Given the description of an element on the screen output the (x, y) to click on. 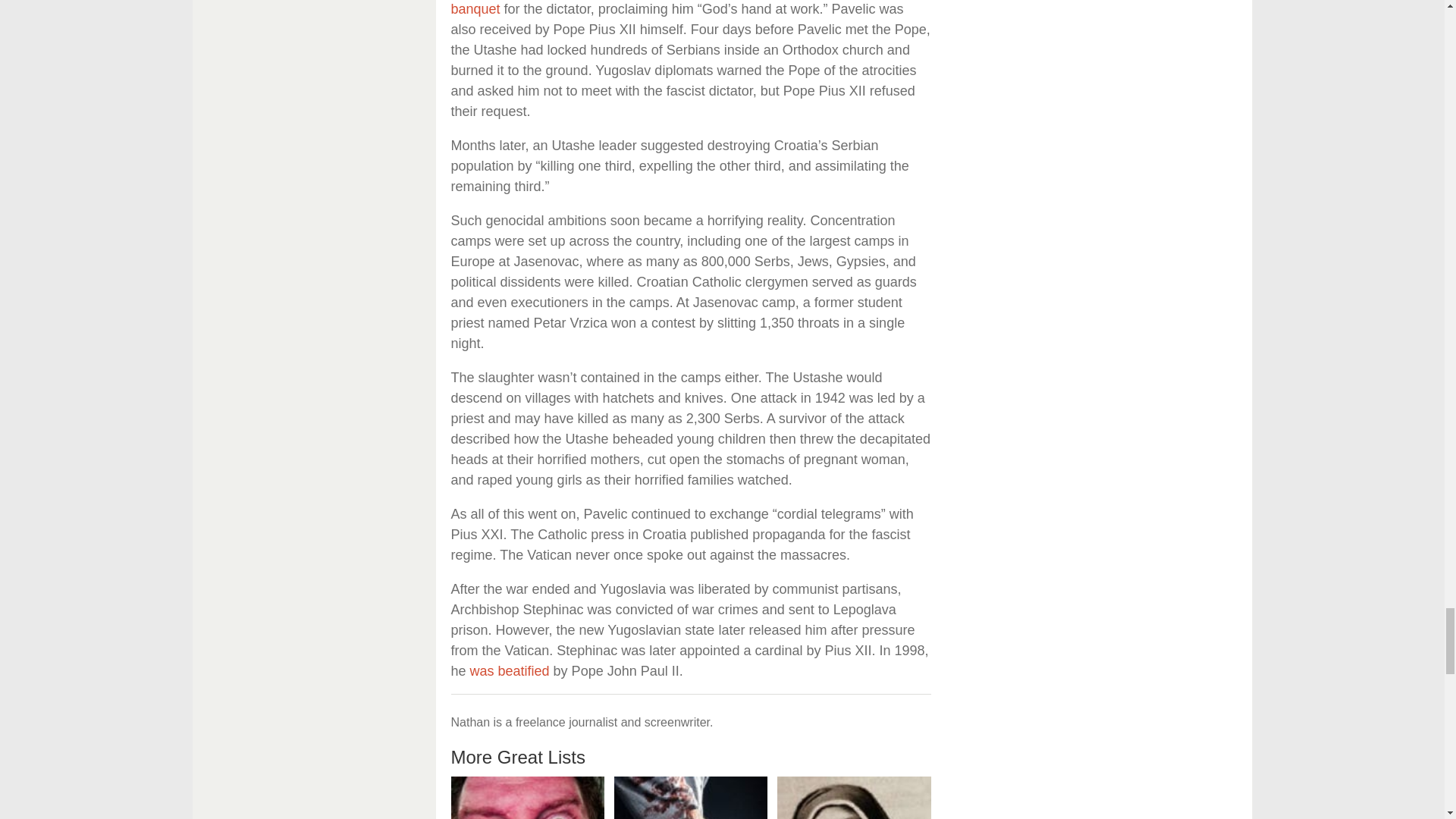
10 Slaves Who Became Roman Catholic Saints (854, 797)
Top 10 Dirty Little Secrets Of Telemarketers (526, 797)
Top 10 Dirty Secrets Of Dry Cleaning (691, 797)
